Given the description of an element on the screen output the (x, y) to click on. 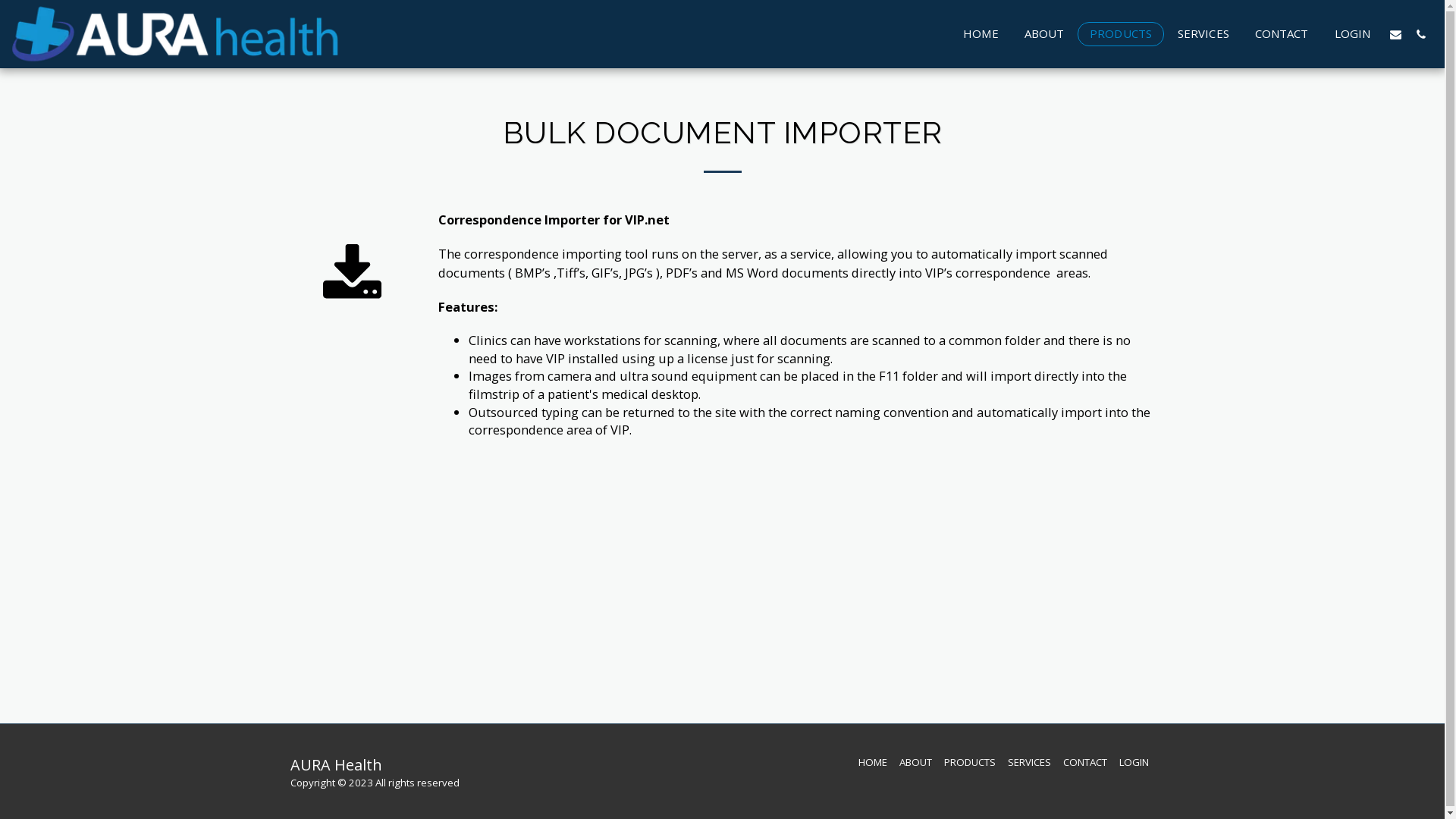
LOGIN Element type: text (1352, 33)
ABOUT Element type: text (1044, 33)
HOME Element type: text (872, 761)
CONTACT Element type: text (1281, 33)
SERVICES Element type: text (1203, 33)
PRODUCTS Element type: text (1120, 33)
PRODUCTS Element type: text (968, 761)
HOME Element type: text (980, 33)
CONTACT Element type: text (1085, 761)
  Element type: text (1420, 33)
  Element type: text (1395, 33)
LOGIN Element type: text (1133, 761)
ABOUT Element type: text (915, 761)
SERVICES Element type: text (1028, 761)
